Given the description of an element on the screen output the (x, y) to click on. 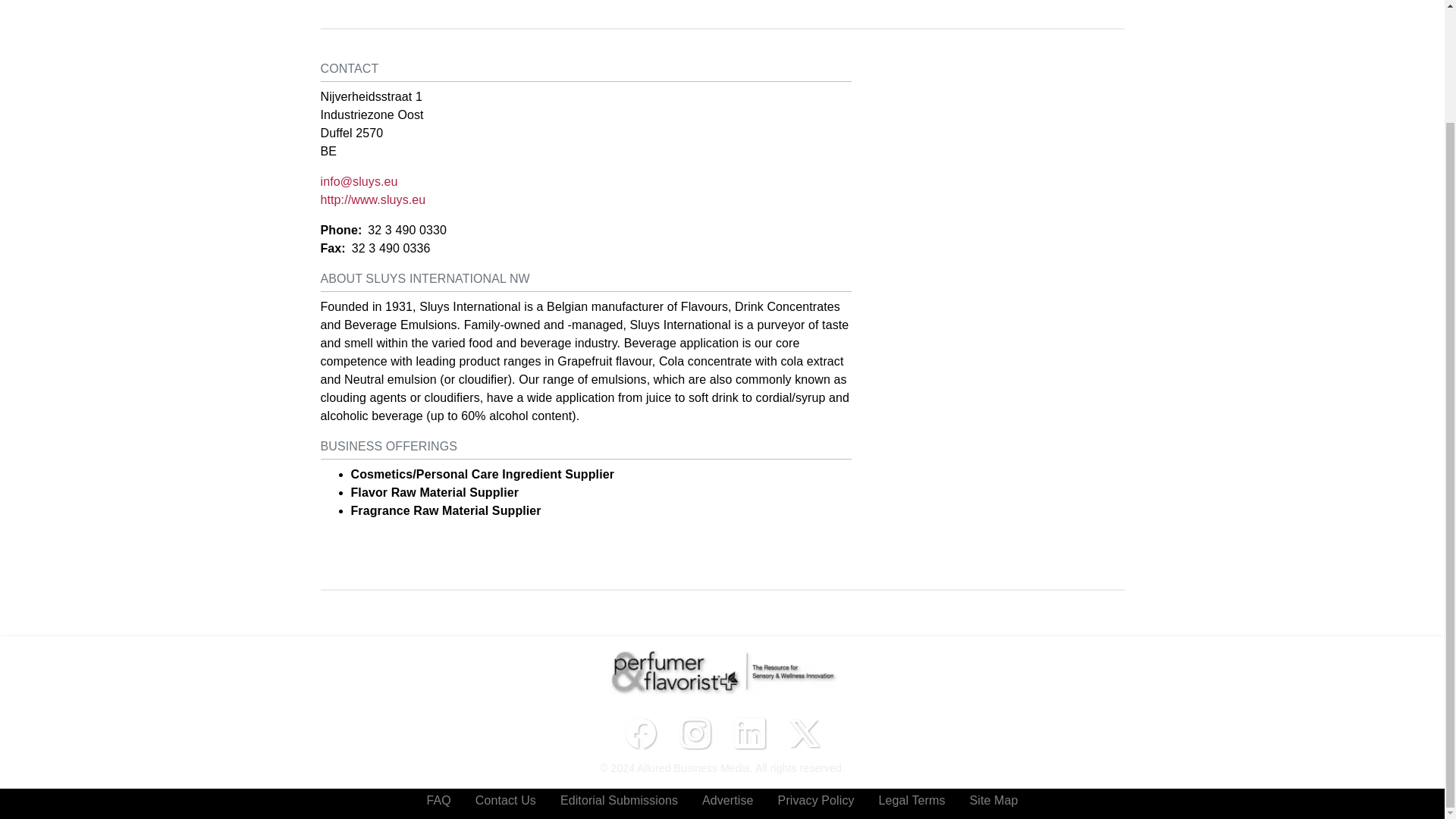
Visit us on Instagram (694, 733)
Twitter X icon (803, 733)
Facebook icon (639, 733)
LinkedIn icon (748, 733)
Visit us on Twitter (803, 733)
Visit us on Linkedin (748, 733)
Visit us on Facebook (639, 733)
Instagram icon (694, 733)
